Given the description of an element on the screen output the (x, y) to click on. 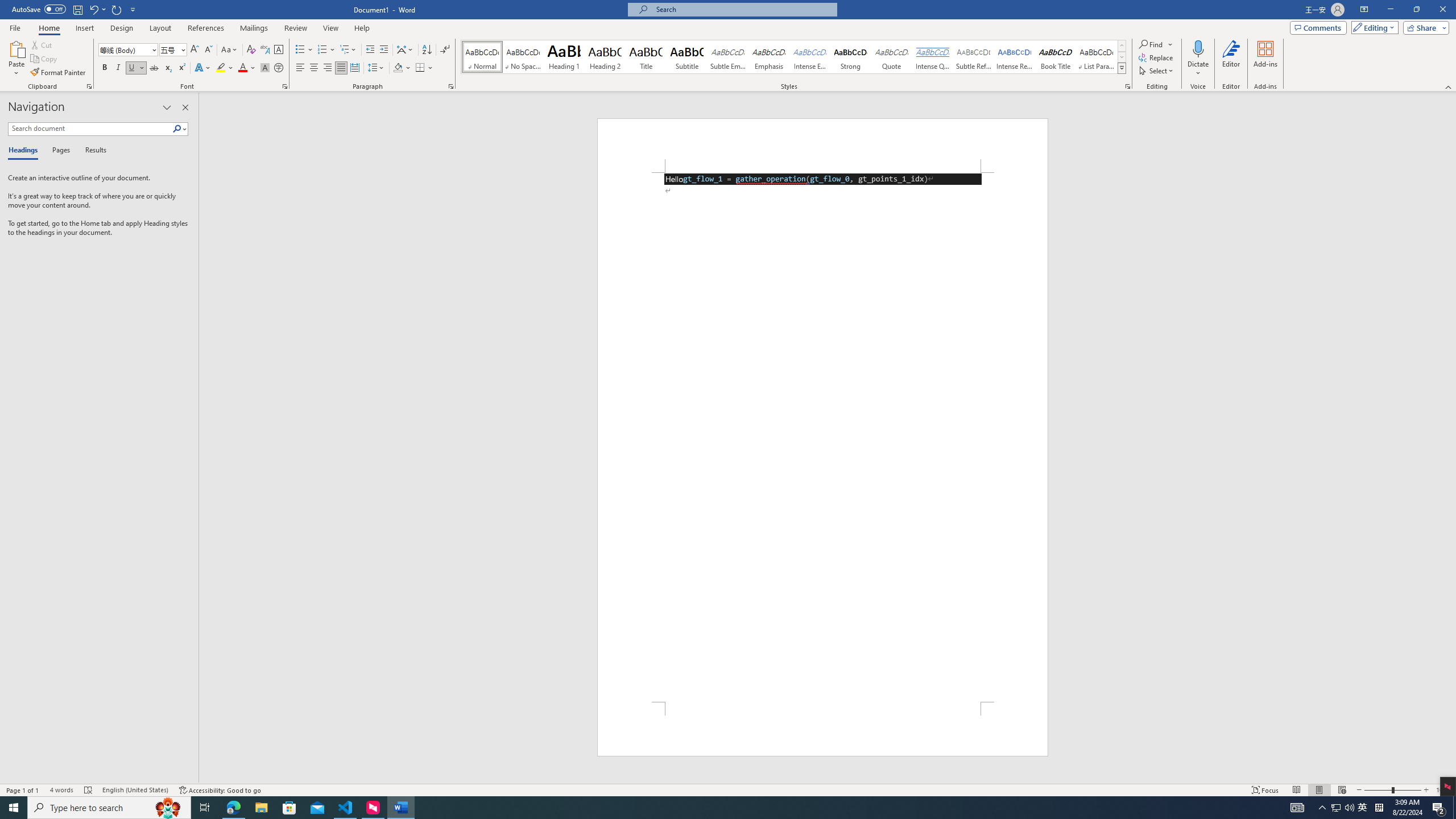
Strong (849, 56)
Class: MsoCommandBar (728, 789)
Increase Indent (383, 49)
Book Title (1055, 56)
Subscript (167, 67)
Distributed (354, 67)
Decrease Indent (370, 49)
Character Shading (264, 67)
Quote (891, 56)
Spelling and Grammar Check Errors (88, 790)
